Given the description of an element on the screen output the (x, y) to click on. 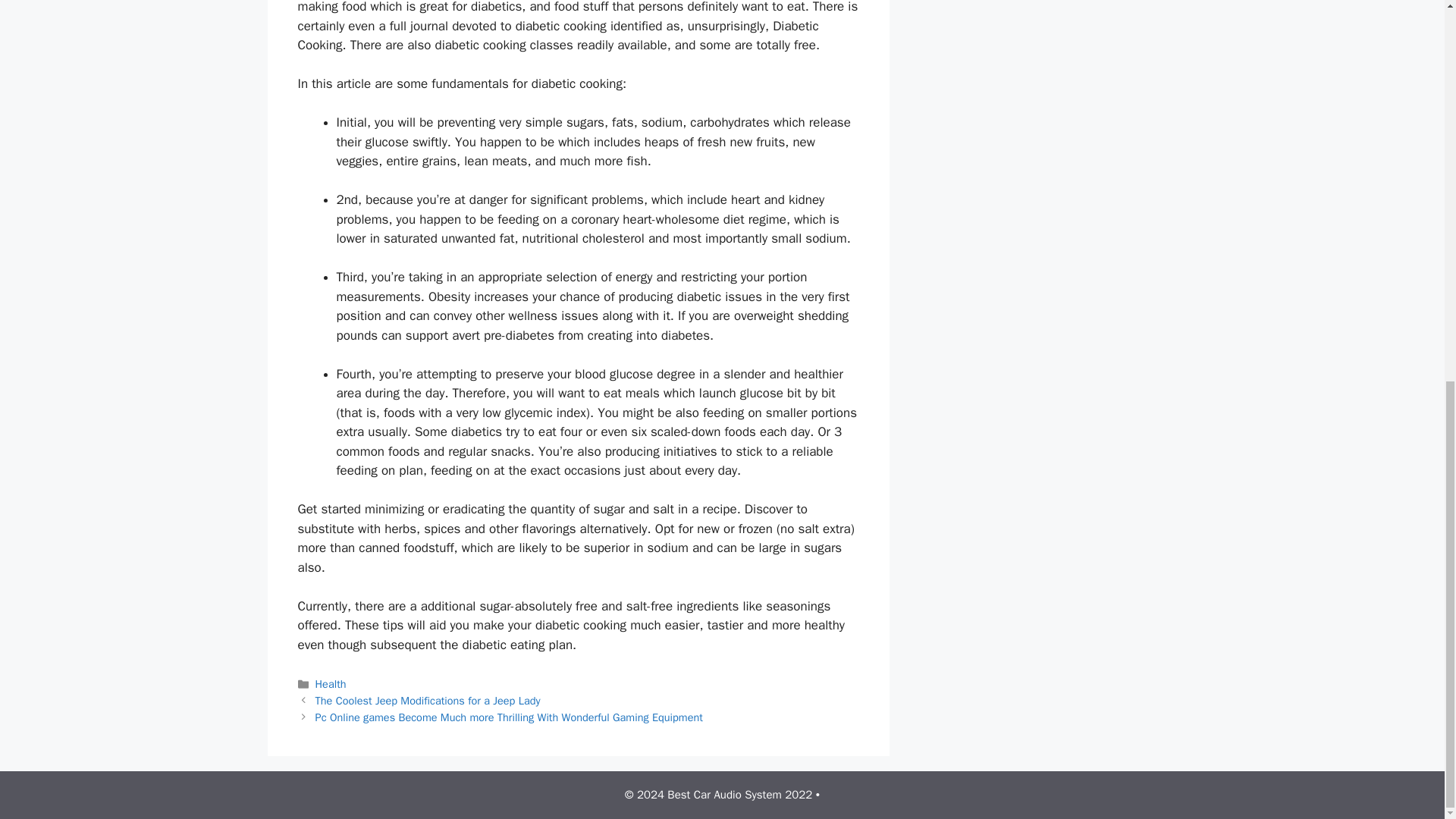
The Coolest Jeep Modifications for a Jeep Lady (427, 700)
Health (330, 684)
